Given the description of an element on the screen output the (x, y) to click on. 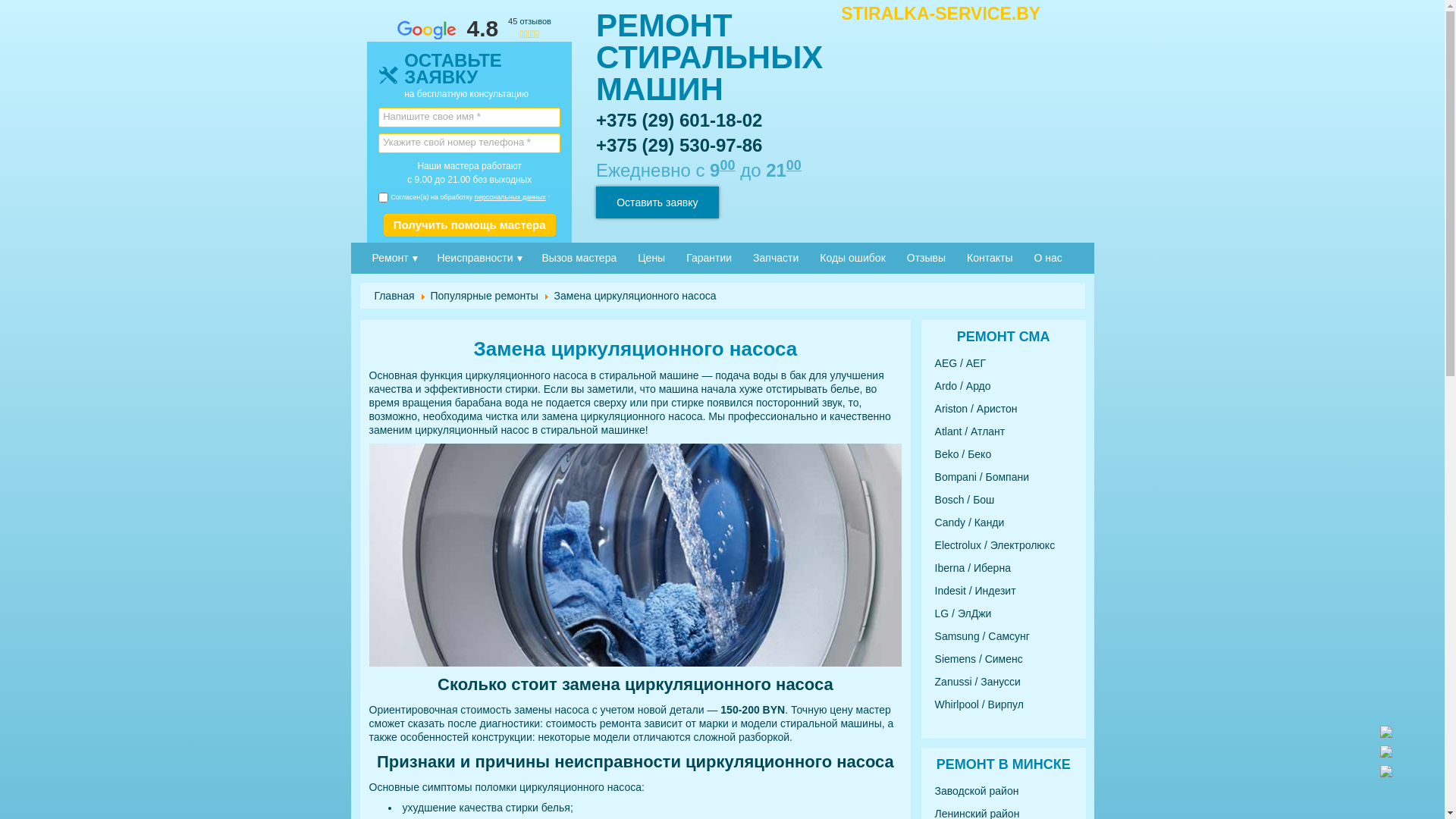
+375 (29) 530-97-86 Element type: text (679, 144)
+375 (29) 601-18-02 Element type: text (679, 119)
STIRALKA-SERVICE.BY Element type: text (940, 13)
